Given the description of an element on the screen output the (x, y) to click on. 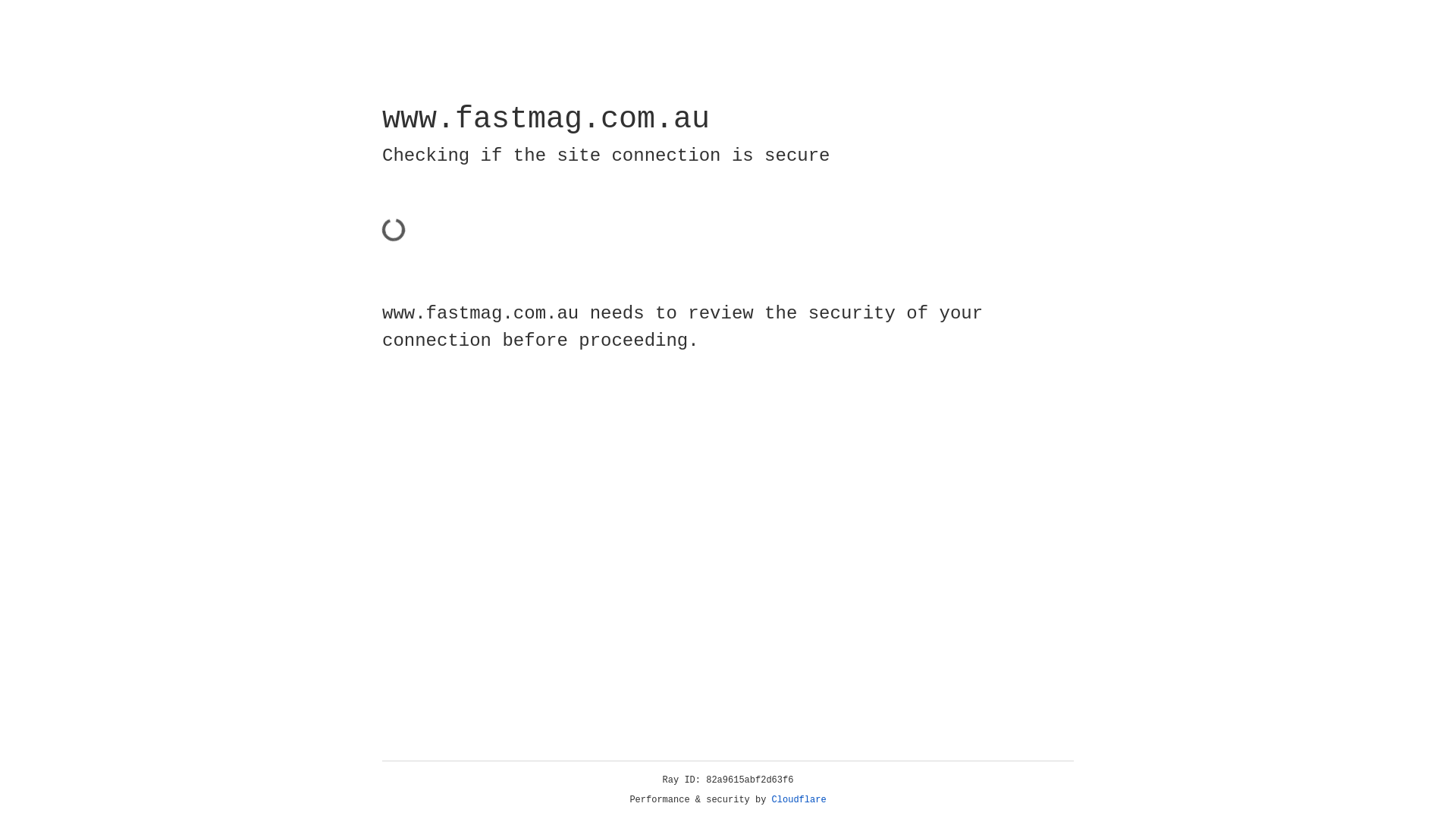
Cloudflare Element type: text (798, 799)
